Given the description of an element on the screen output the (x, y) to click on. 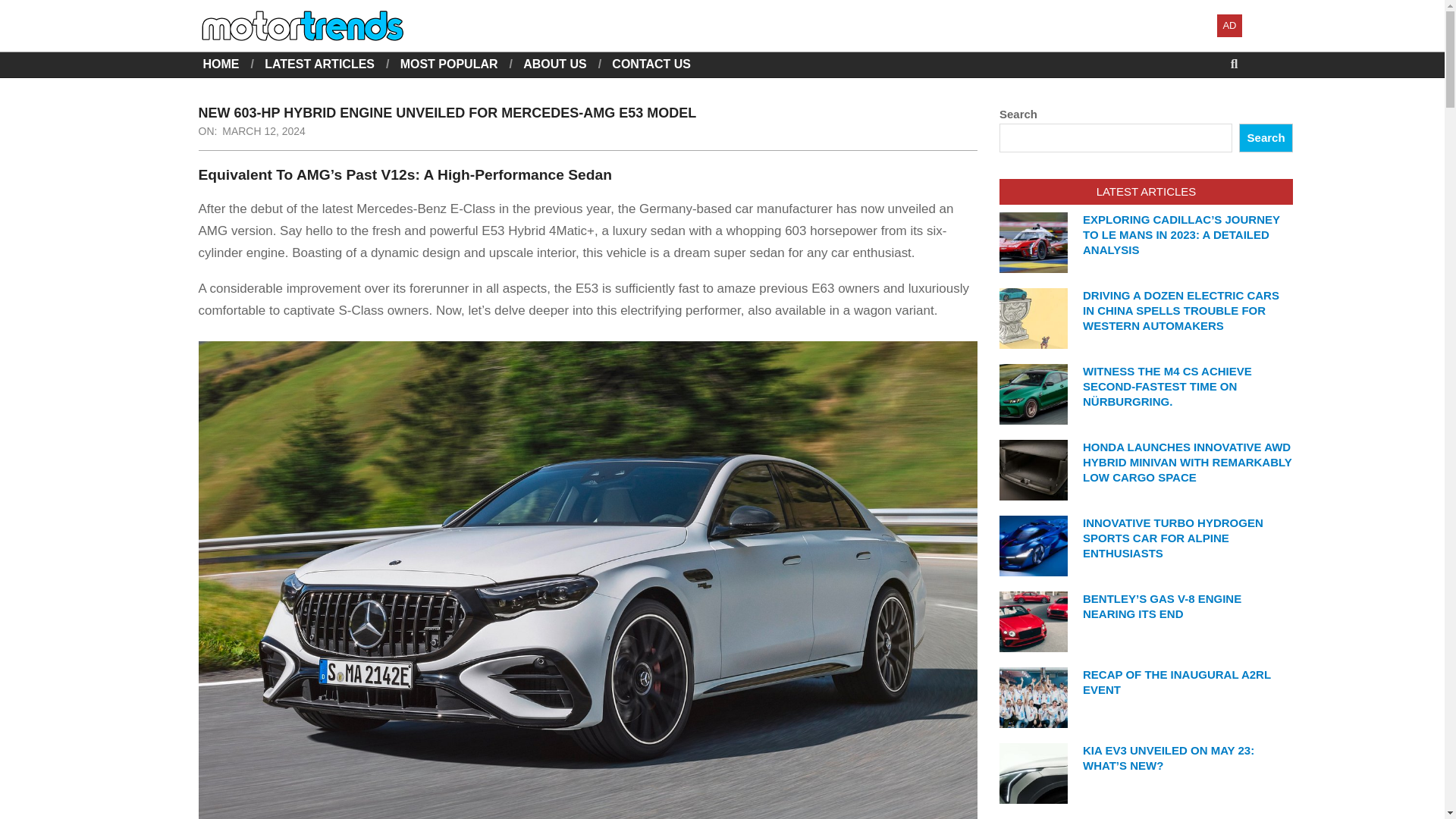
ABOUT US (554, 63)
Search (1265, 137)
LATEST ARTICLES (319, 63)
Tuesday, March 12, 2024, 8:42 am (263, 131)
HOME (221, 63)
CONTACT US (650, 63)
Search (24, 9)
MOST POPULAR (448, 63)
